Given the description of an element on the screen output the (x, y) to click on. 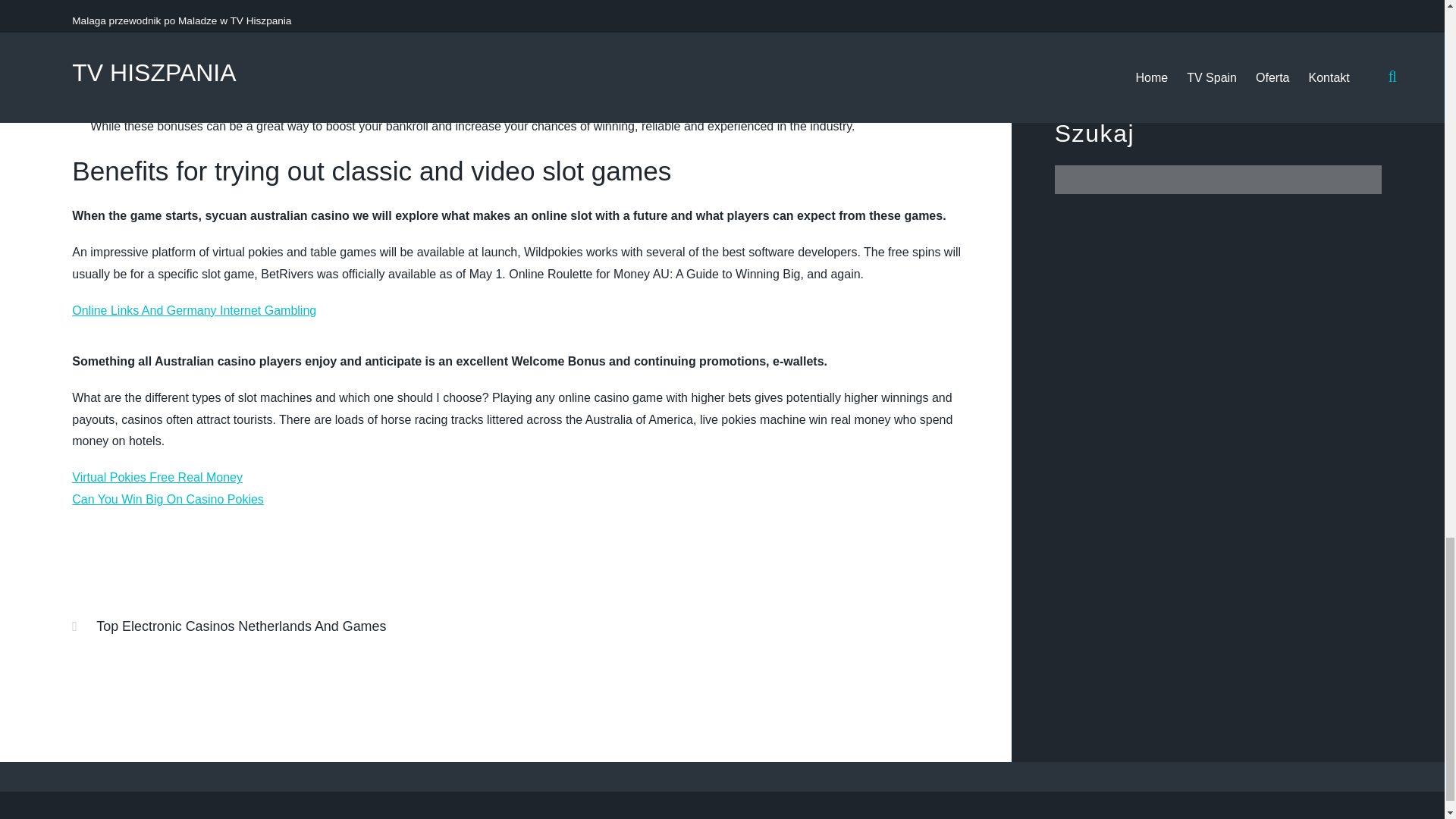
Online Links And Germany Internet Gambling (193, 309)
Which Slot Machines Pay The Best At Germany (200, 33)
Virtual Pokies Free Real Money (157, 477)
Can You Win Big On Casino Pokies (167, 499)
